Given the description of an element on the screen output the (x, y) to click on. 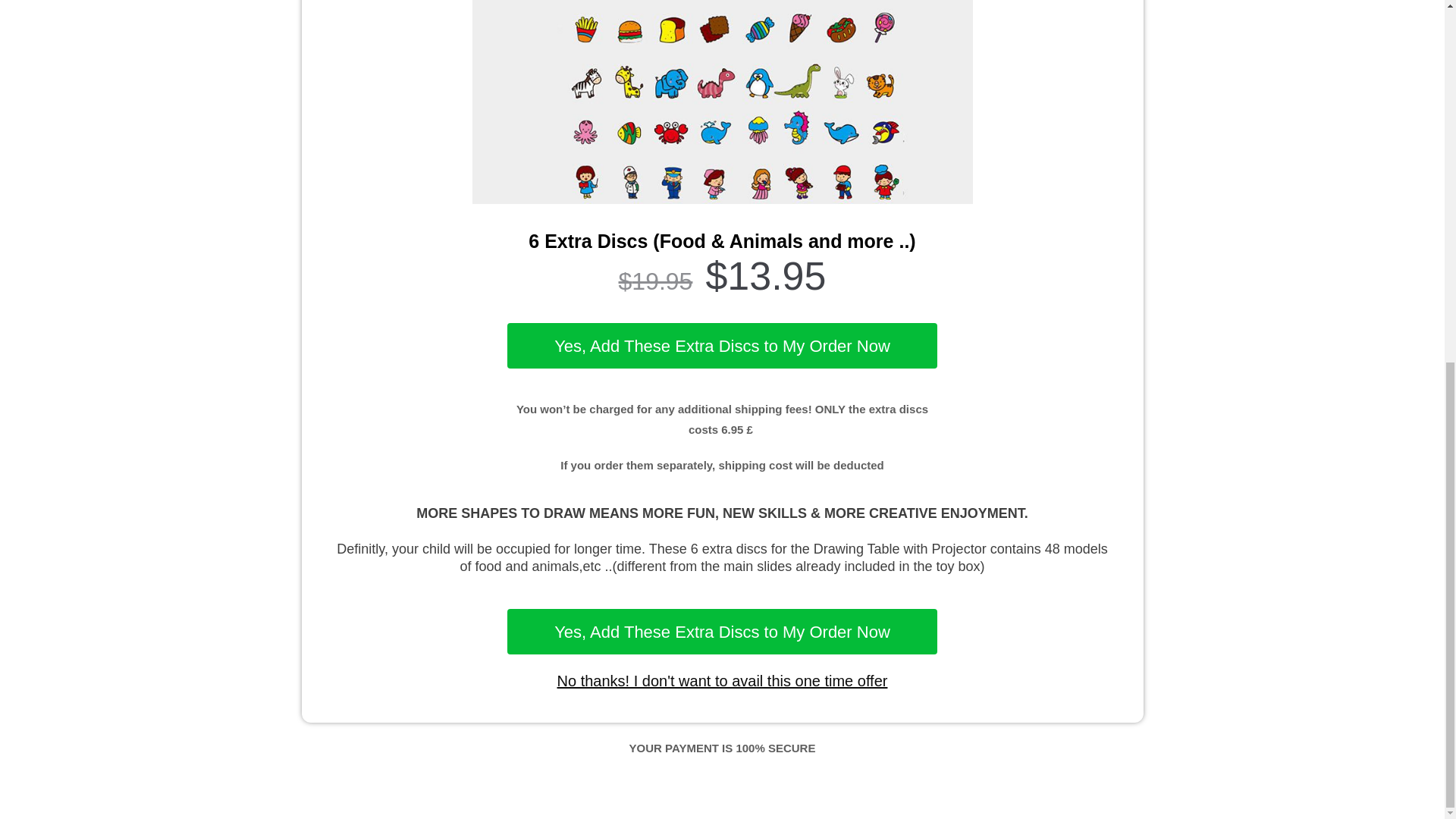
Yes, Add These Extra Discs to My Order Now (721, 345)
No thanks! I don't want to avail this one time offer (721, 680)
Yes, Add These Extra Discs to My Order Now (721, 631)
